Given the description of an element on the screen output the (x, y) to click on. 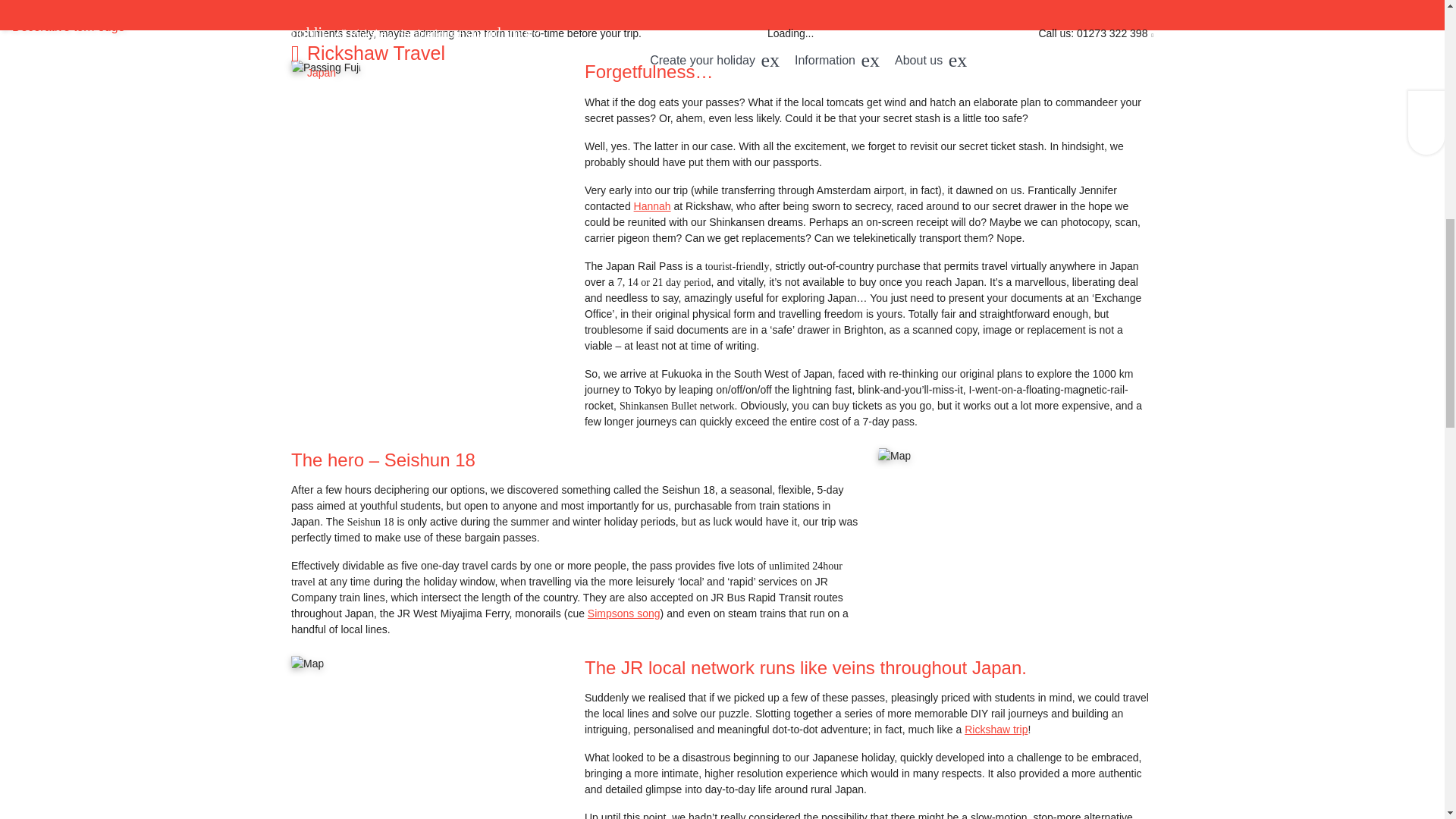
Passing Fuji (326, 67)
Map (894, 455)
Map (307, 663)
Hannah (652, 205)
Rickshaw trip (995, 729)
